Given the description of an element on the screen output the (x, y) to click on. 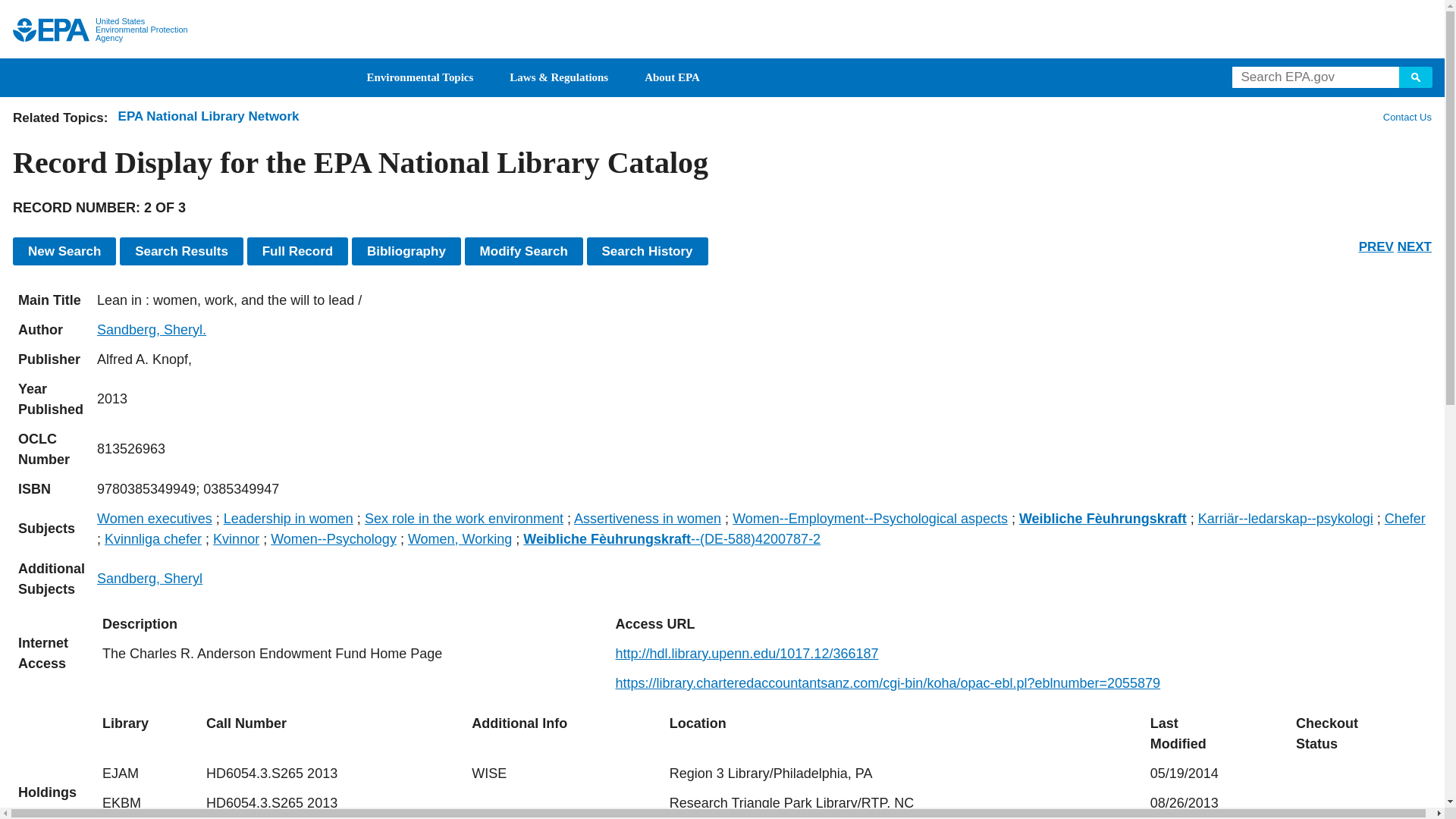
Search History (646, 251)
Search (1415, 76)
Bibliography (406, 251)
About EPA (671, 77)
Full Record (298, 251)
Kvinnor (235, 539)
Sandberg, Sheryl (149, 578)
EPA National Library Network (208, 115)
Sex role in the work environment (464, 518)
PREV (1375, 246)
Create a New Search (64, 251)
Women--Employment--Psychological aspects (869, 518)
Go to the home page (50, 29)
NEXT (1414, 246)
